Given the description of an element on the screen output the (x, y) to click on. 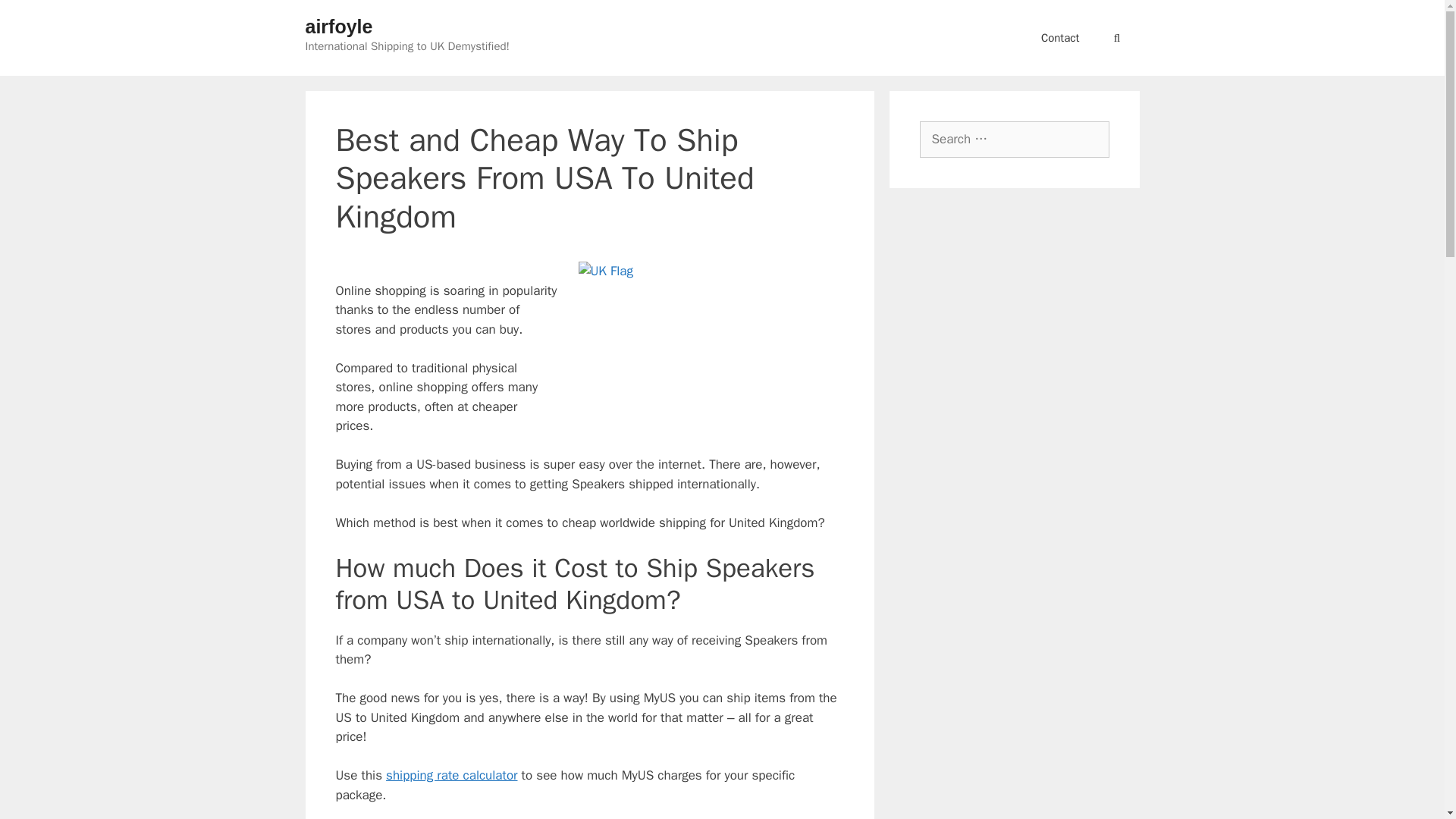
airfoyle (338, 25)
Search (33, 15)
Contact (1060, 37)
Search for: (1013, 139)
shipping rate calculator (450, 774)
